Given the description of an element on the screen output the (x, y) to click on. 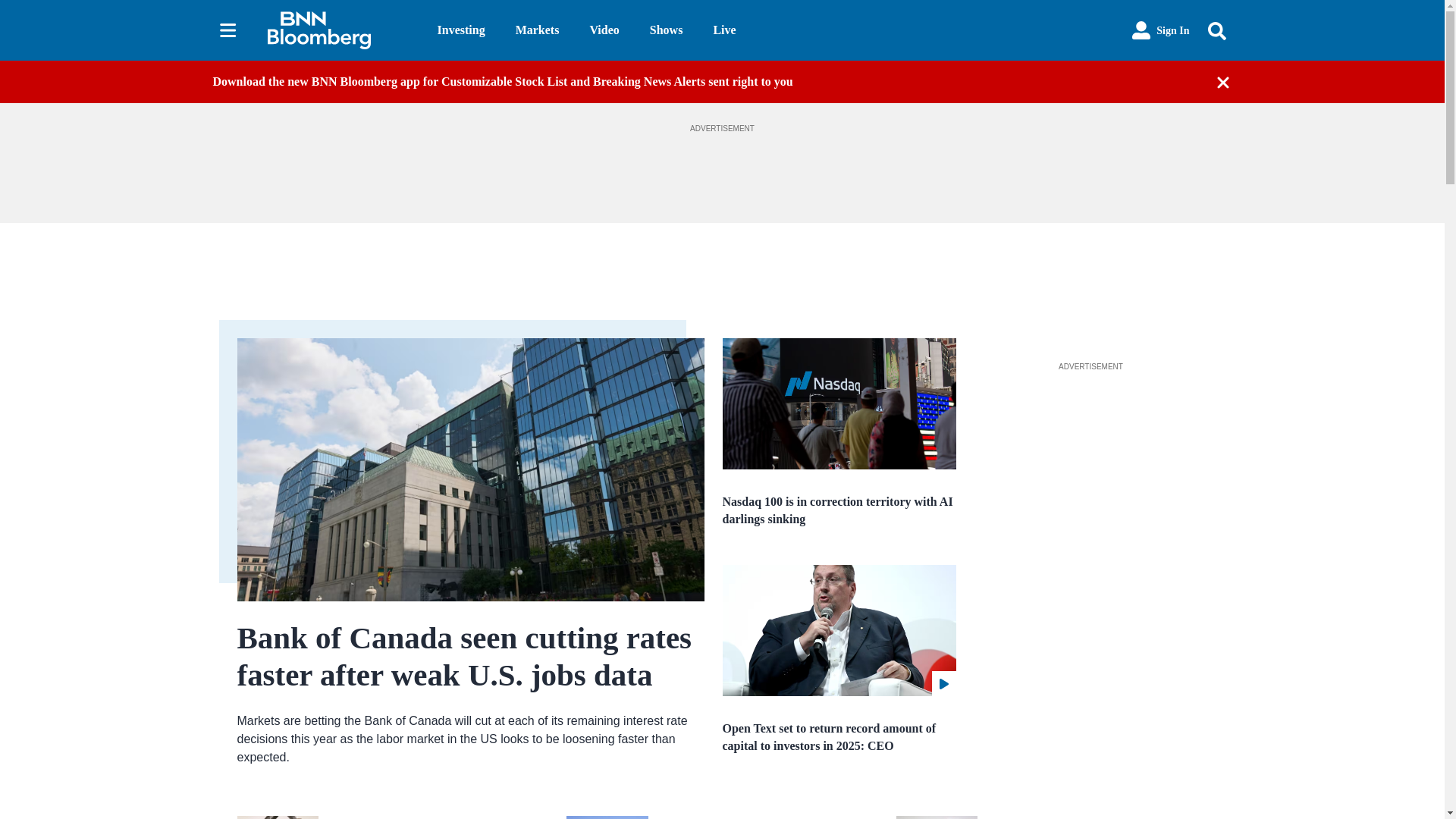
Live (724, 30)
BNN Bloomberg (339, 30)
Sections (227, 30)
Sign In (1160, 30)
Video (603, 30)
Investing (460, 30)
Shows (665, 30)
Markets (537, 30)
